Given the description of an element on the screen output the (x, y) to click on. 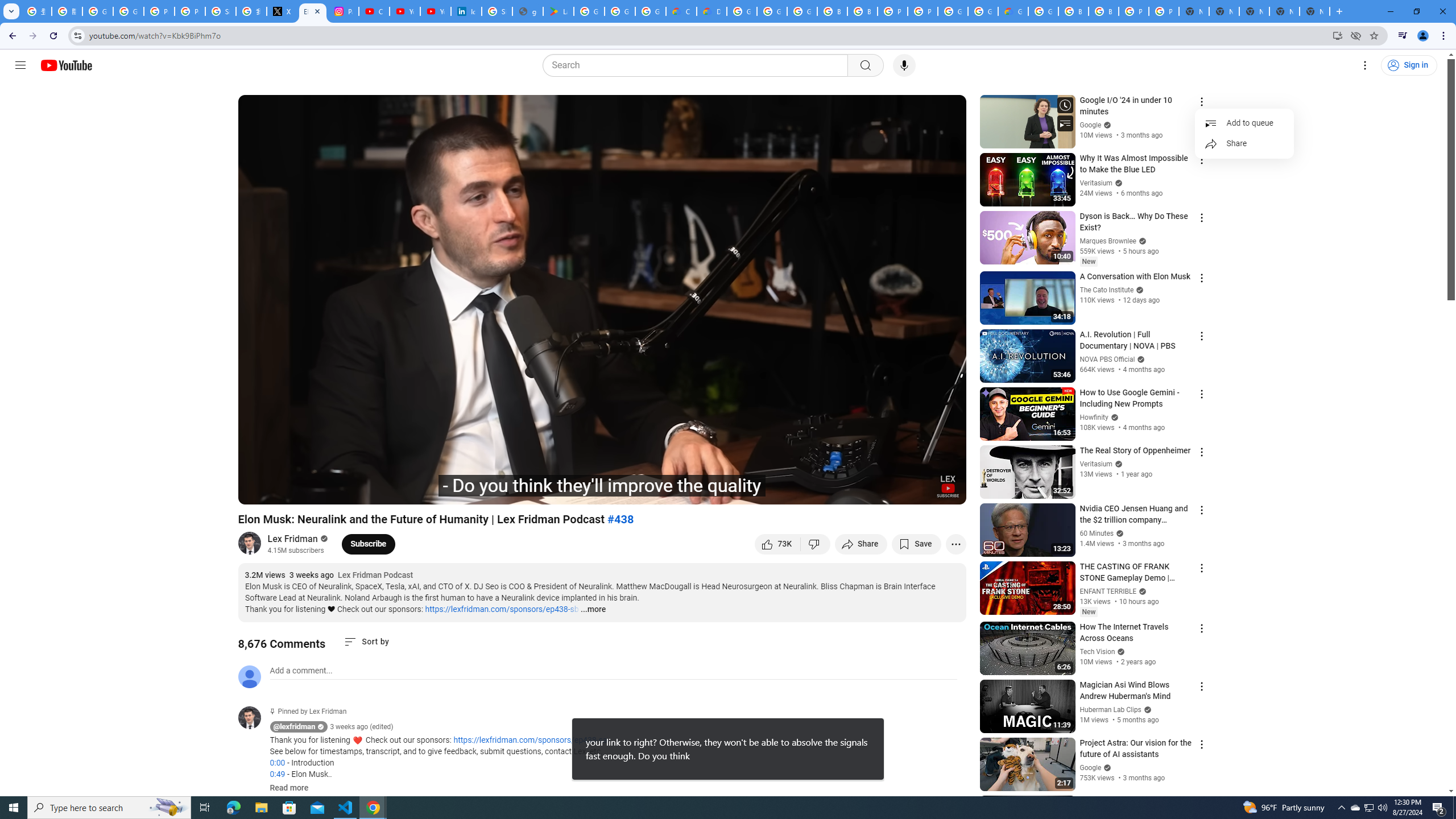
Add to queue (1243, 123)
0:00 (277, 763)
Browse Chrome as a guest - Computer - Google Chrome Help (1072, 11)
Next (SHIFT+n) (284, 490)
Google Workspace - Specific Terms (619, 11)
X (282, 11)
